Given the description of an element on the screen output the (x, y) to click on. 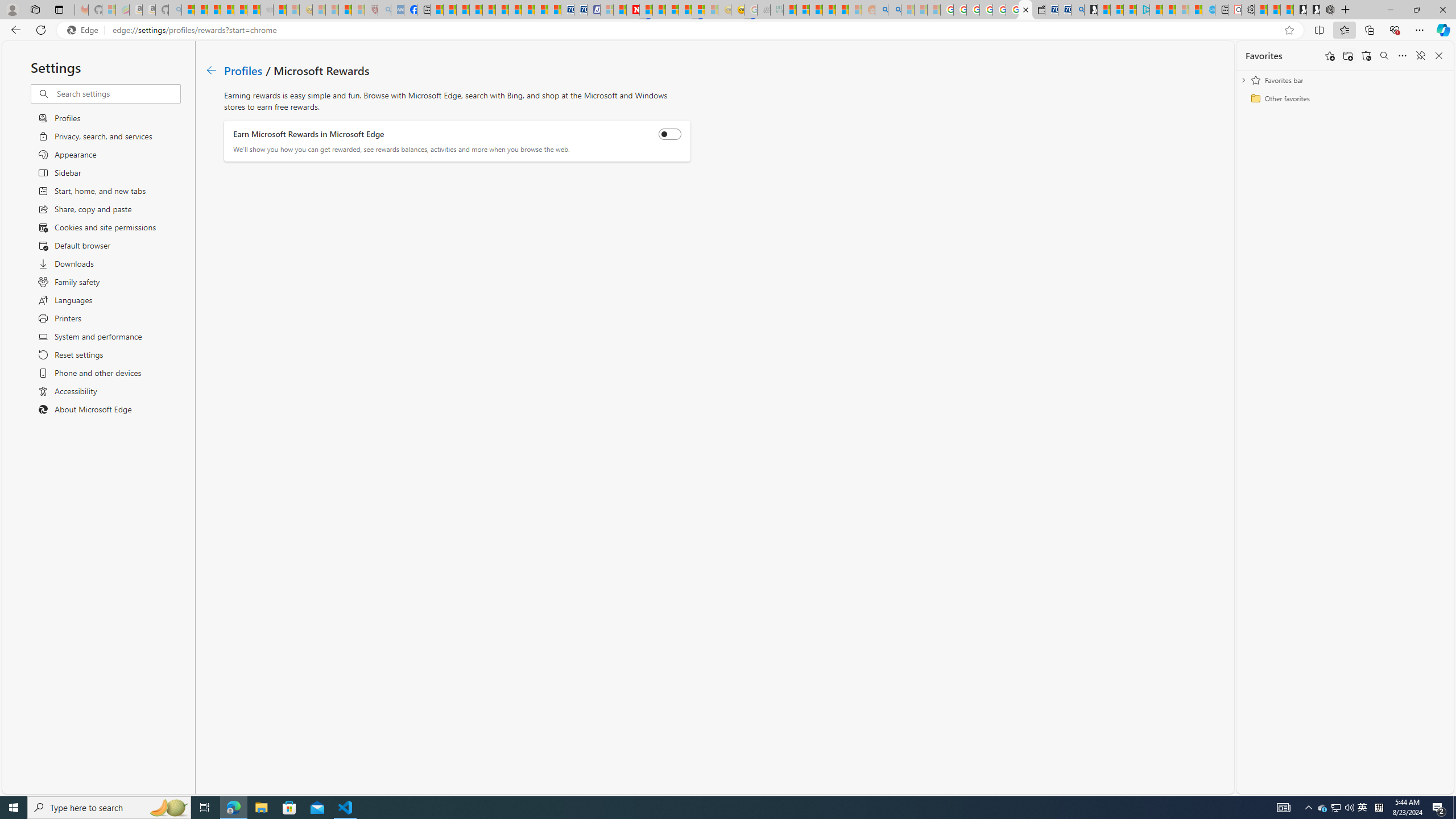
New Report Confirms 2023 Was Record Hot | Watch (239, 9)
Home | Sky Blue Bikes - Sky Blue Bikes (1208, 9)
Restore deleted favorites (1366, 55)
Combat Siege - Sleeping (266, 9)
14 Common Myths Debunked By Scientific Facts (659, 9)
Close favorites (1439, 55)
